Given the description of an element on the screen output the (x, y) to click on. 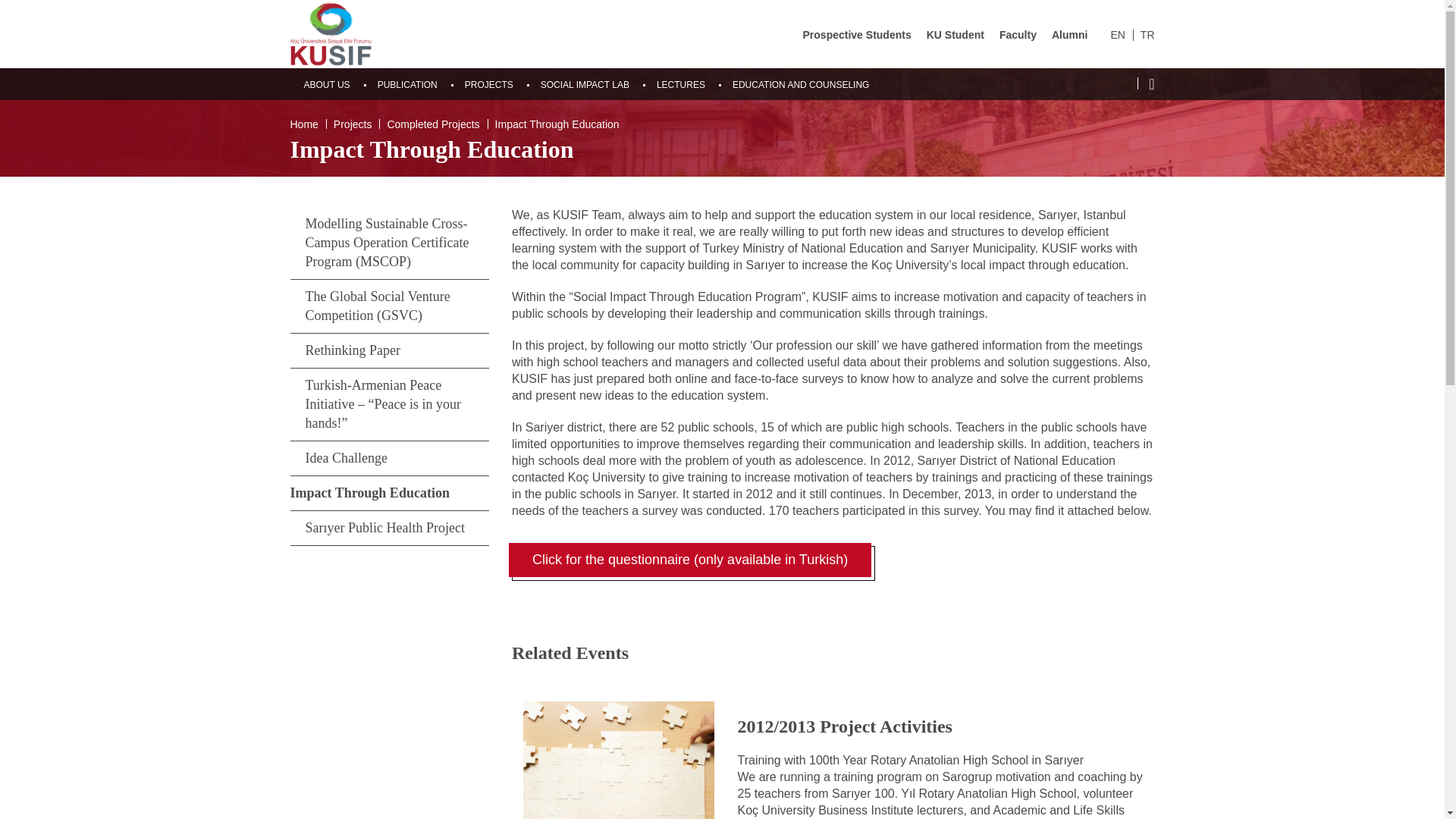
EDUCATION AND COUNSELING (800, 84)
KU Student (955, 34)
PUBLICATION (407, 84)
EN (1116, 34)
ABOUT US (325, 84)
KU (330, 33)
LECTURES (680, 84)
PROJECTS (488, 84)
SOCIAL IMPACT LAB (584, 84)
TR (1147, 34)
